Given the description of an element on the screen output the (x, y) to click on. 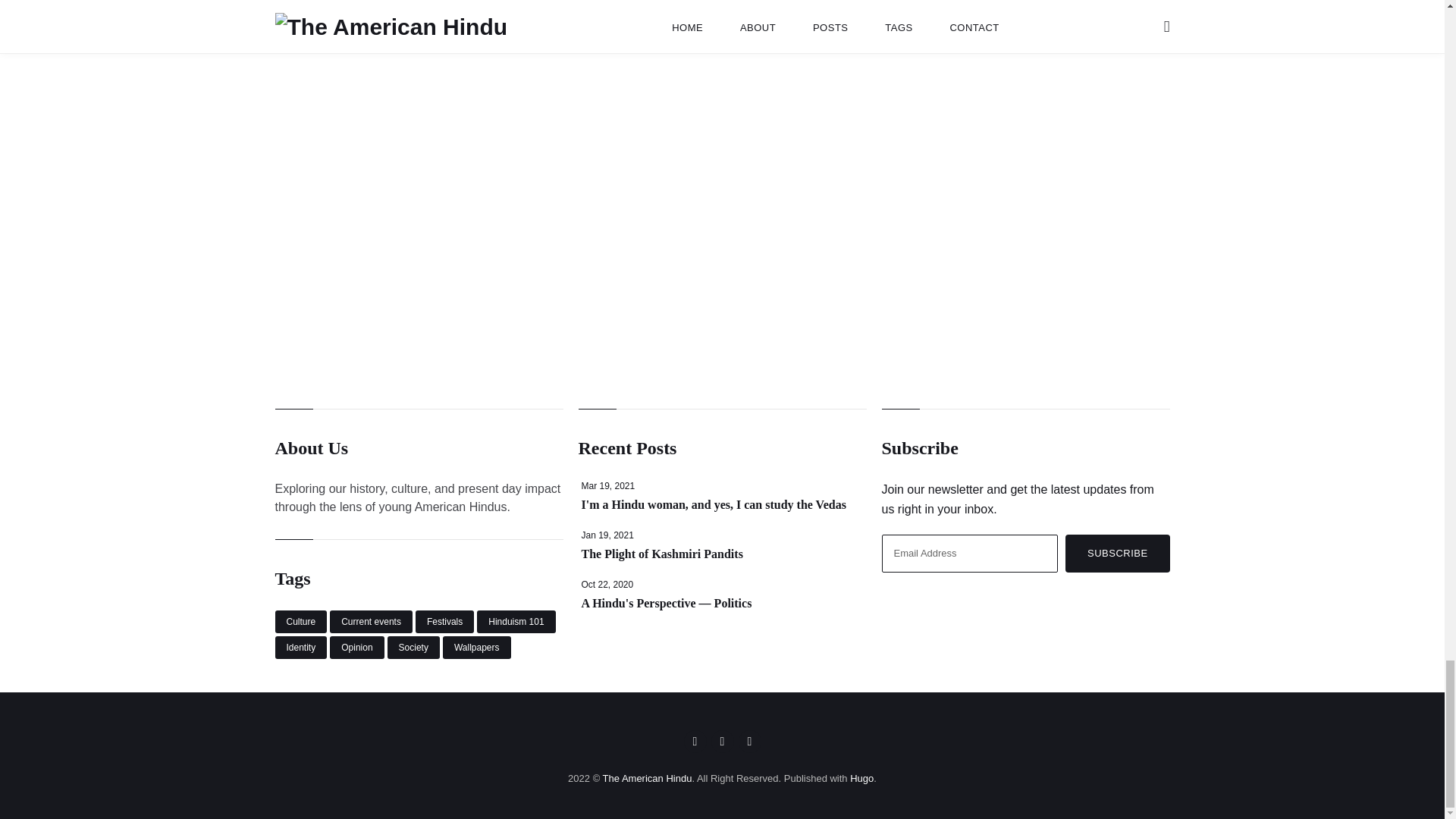
Society (413, 647)
Current events (371, 621)
Hinduism 101 (515, 621)
Festivals (444, 621)
Identity (300, 647)
Wallpapers (476, 647)
Opinion (357, 647)
Culture (300, 621)
